Given the description of an element on the screen output the (x, y) to click on. 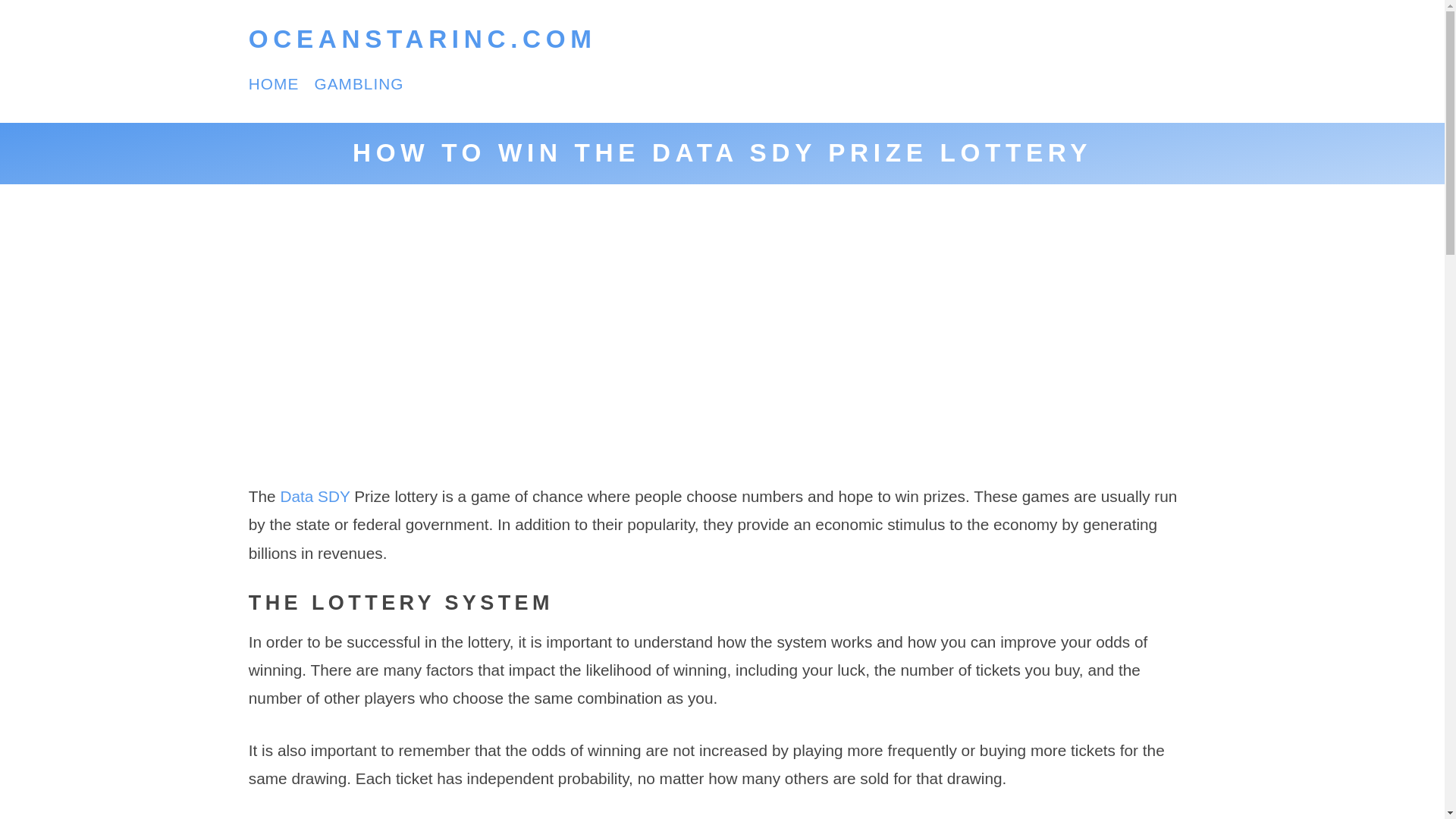
OCEANSTARINC.COM (422, 39)
HOME (273, 83)
GAMBLING (358, 83)
Data SDY (314, 496)
